Given the description of an element on the screen output the (x, y) to click on. 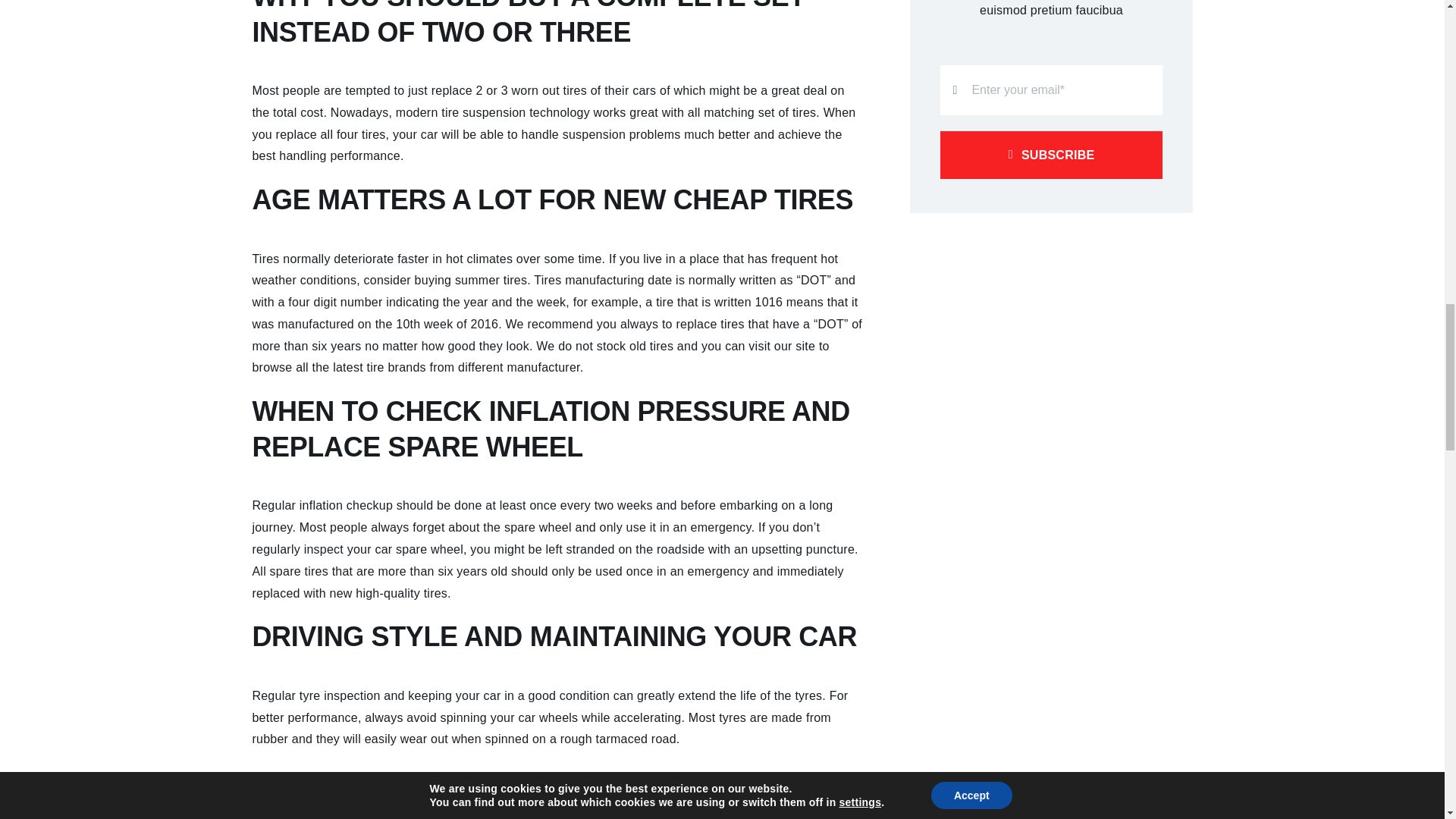
SUBSCRIBE (1050, 117)
